Given the description of an element on the screen output the (x, y) to click on. 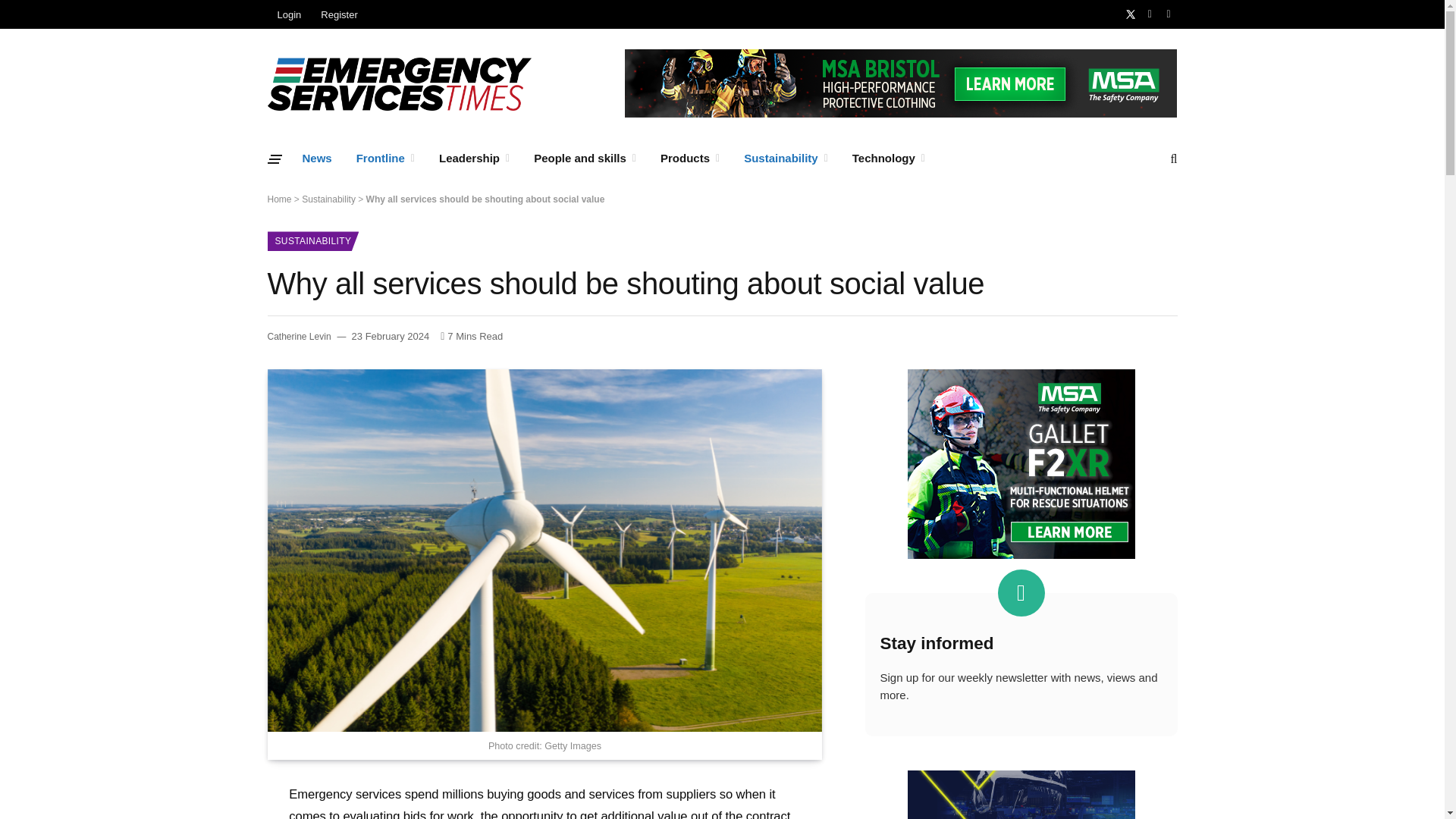
Posts by Catherine Levin (298, 336)
Emergency Services Times (398, 83)
